Given the description of an element on the screen output the (x, y) to click on. 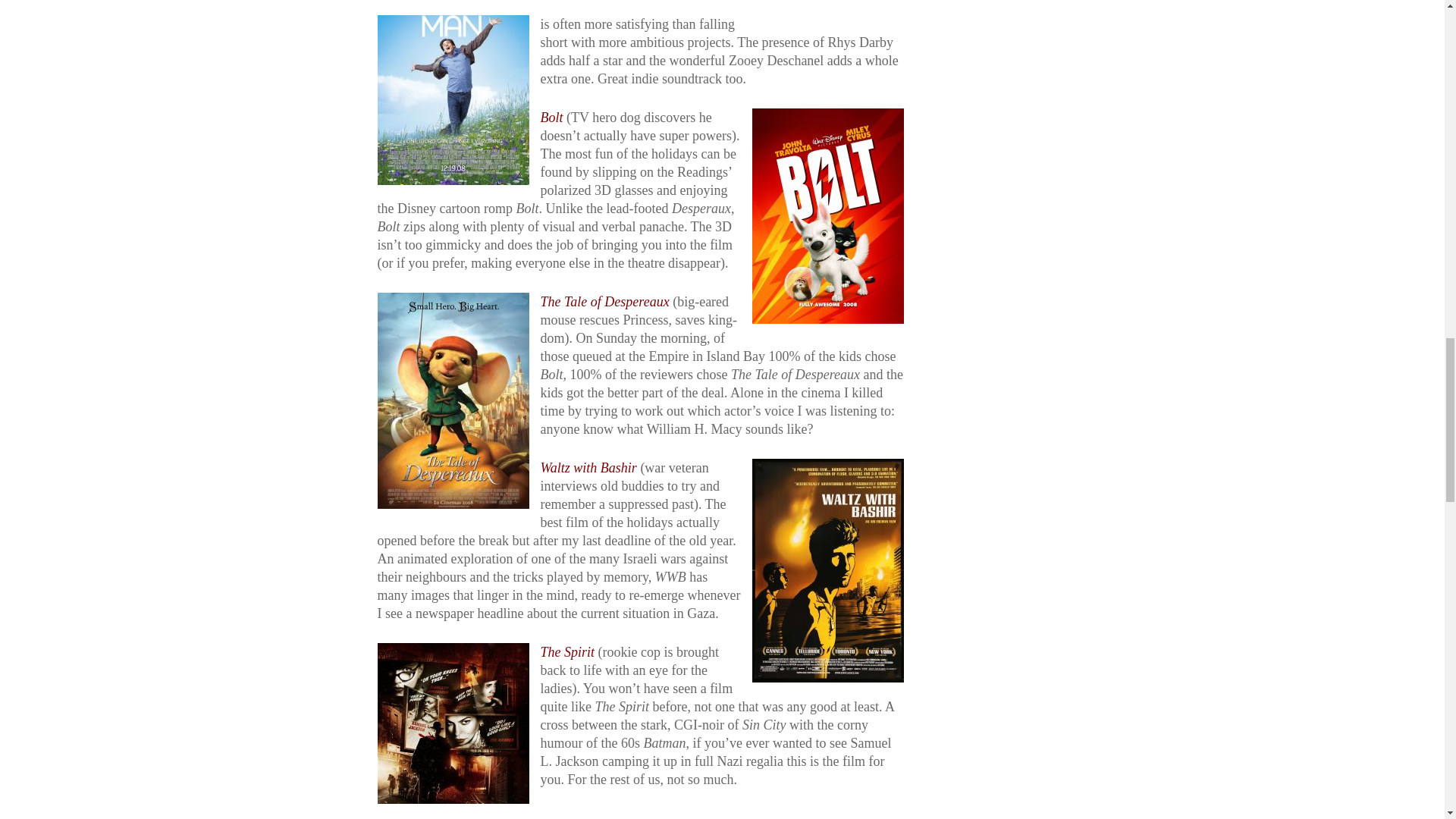
Bolt (551, 117)
Bedtime Stories (583, 814)
The Tale of Despereaux (604, 301)
Waltz with Bashir (588, 467)
Waltz with Bashir official site (588, 467)
Bolt official site (551, 117)
The Spirit official site (567, 652)
Bedtime Stories official site (583, 814)
The Spirit (567, 652)
The Tale of Desperaux official site (604, 301)
